Given the description of an element on the screen output the (x, y) to click on. 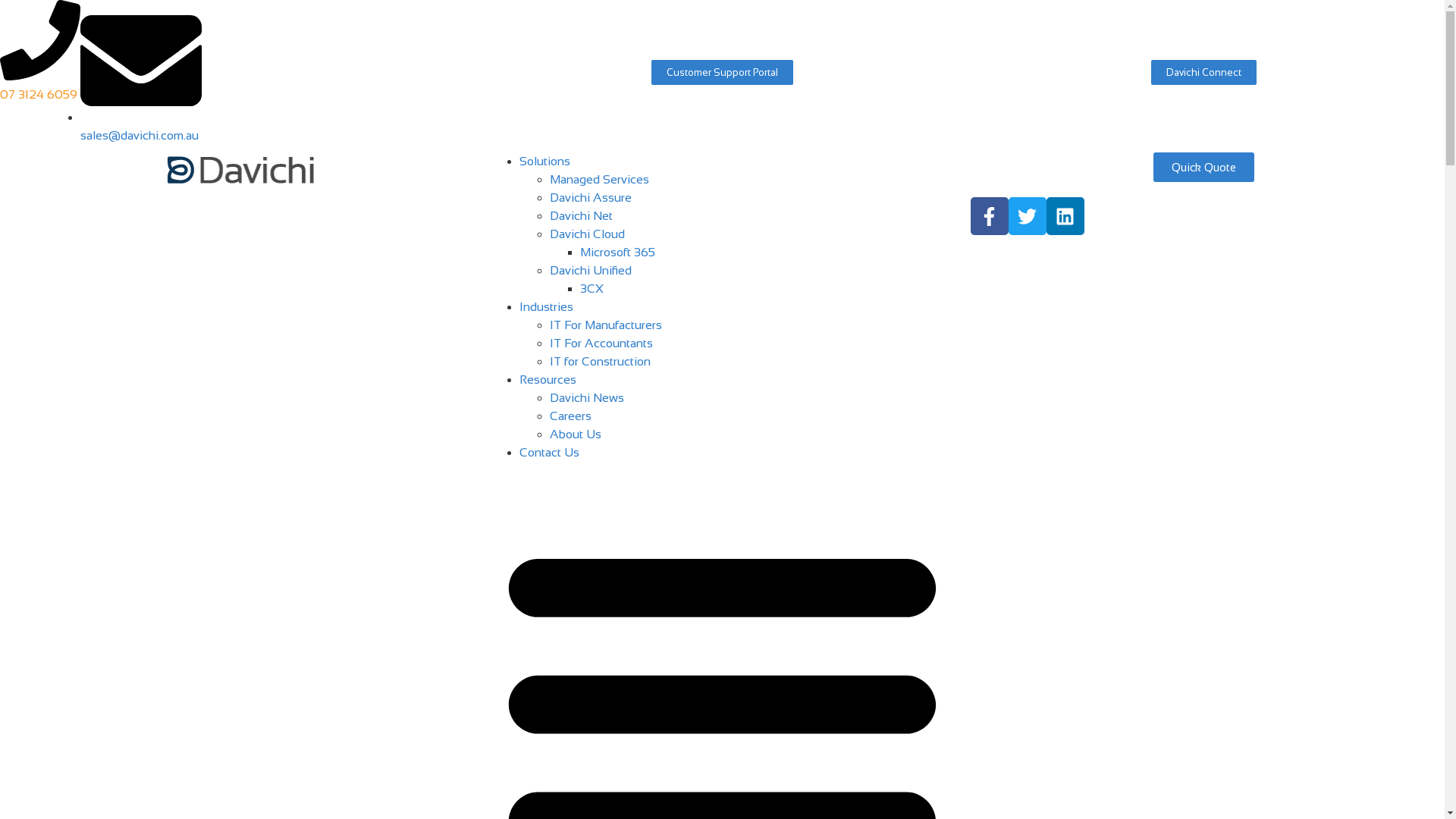
Davichi Unified Element type: text (590, 269)
Contact Us Element type: text (549, 451)
07 3124 6059 Element type: text (40, 84)
Customer Support Portal Element type: text (722, 71)
Davichi Connect Element type: text (1203, 71)
IT for Construction Element type: text (599, 360)
3CX Element type: text (591, 288)
About Us Element type: text (575, 433)
Careers Element type: text (570, 415)
Resources Element type: text (547, 379)
Davichi Net Element type: text (580, 215)
Industries Element type: text (546, 306)
IT For Manufacturers Element type: text (605, 324)
Davichi Cloud Element type: text (586, 233)
Microsoft 365 Element type: text (617, 251)
sales@davichi.com.au Element type: text (140, 125)
Quick Quote Element type: text (1203, 167)
IT For Accountants Element type: text (600, 342)
Managed Services Element type: text (599, 178)
Solutions Element type: text (544, 160)
Davichi News Element type: text (586, 397)
Davichi Assure Element type: text (590, 197)
